Given the description of an element on the screen output the (x, y) to click on. 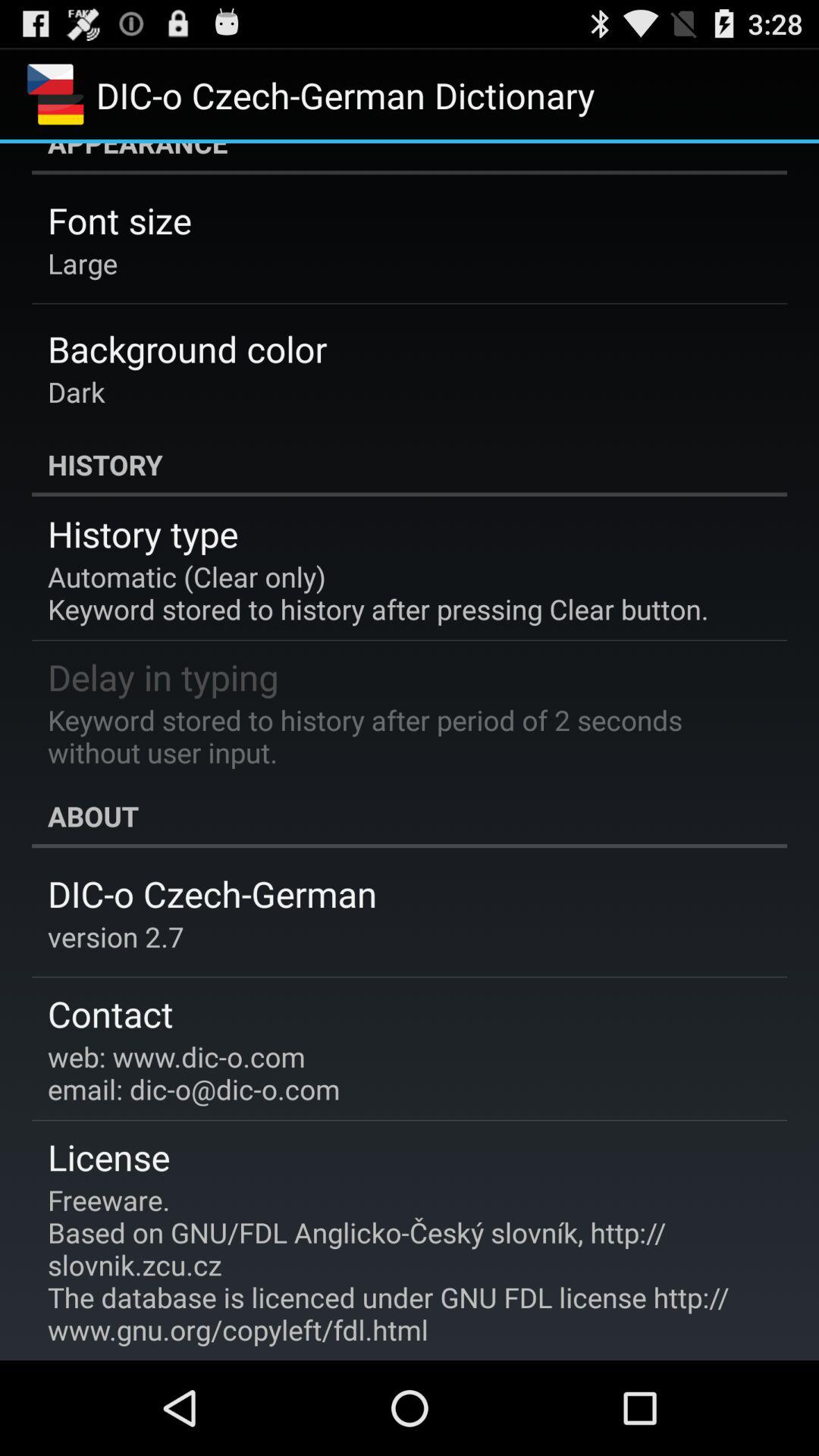
select the version 2.7 app (115, 936)
